Given the description of an element on the screen output the (x, y) to click on. 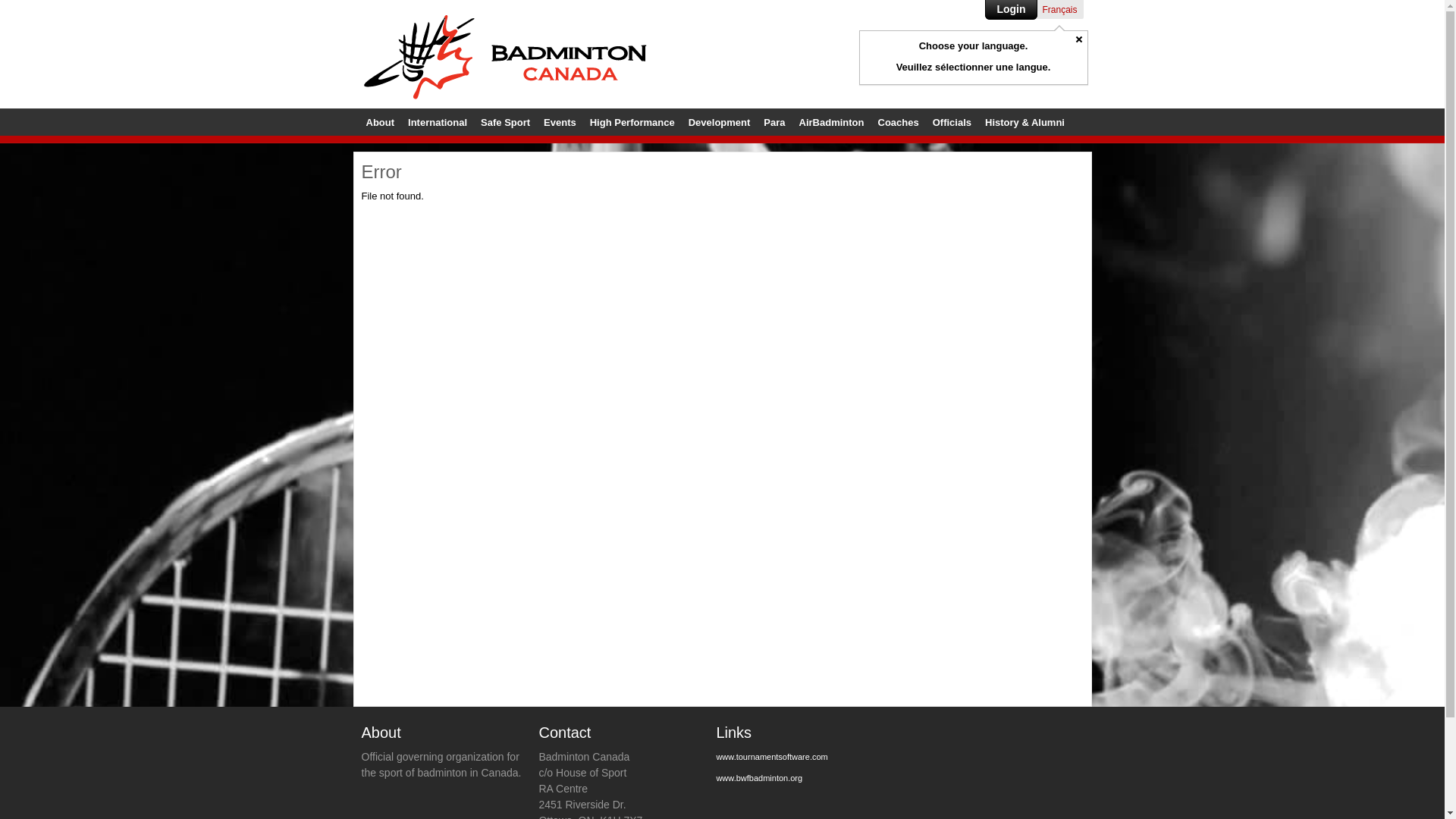
Officials Element type: text (951, 122)
www.bwfbadminton.org Element type: text (758, 777)
High Performance Element type: text (632, 122)
About Element type: text (379, 122)
www.tournamentsoftware.com Element type: text (771, 756)
Coaches Element type: text (898, 122)
Facebook Element type: text (988, 66)
YouTube Element type: text (1086, 64)
Twitter Element type: text (1005, 64)
Badminton Canada Element type: text (504, 57)
Development Element type: text (719, 122)
International Element type: text (437, 122)
LinkedIn Element type: text (1060, 64)
Instagram Element type: text (1038, 64)
Events Element type: text (559, 122)
AirBadminton Element type: text (831, 122)
History & Alumni Element type: text (1024, 122)
Para Element type: text (774, 122)
Safe Sport Element type: text (505, 122)
